Given the description of an element on the screen output the (x, y) to click on. 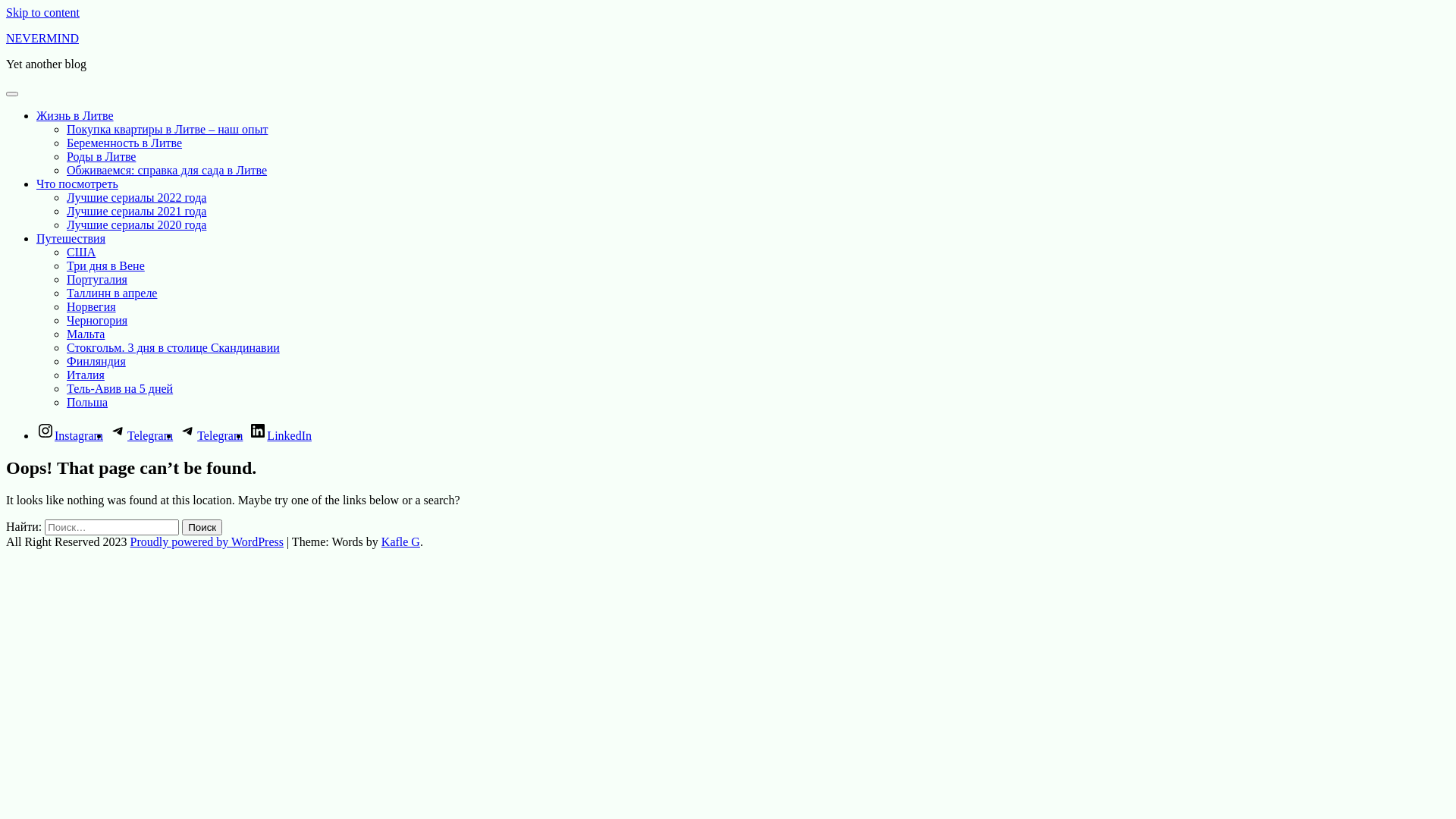
Skip to content Element type: text (42, 12)
Kafle G Element type: text (400, 541)
NEVERMIND Element type: text (42, 37)
Proudly powered by WordPress Element type: text (206, 541)
Telegram Element type: text (140, 435)
LinkedIn Element type: text (279, 435)
Telegram Element type: text (210, 435)
Instagram Element type: text (69, 435)
